Given the description of an element on the screen output the (x, y) to click on. 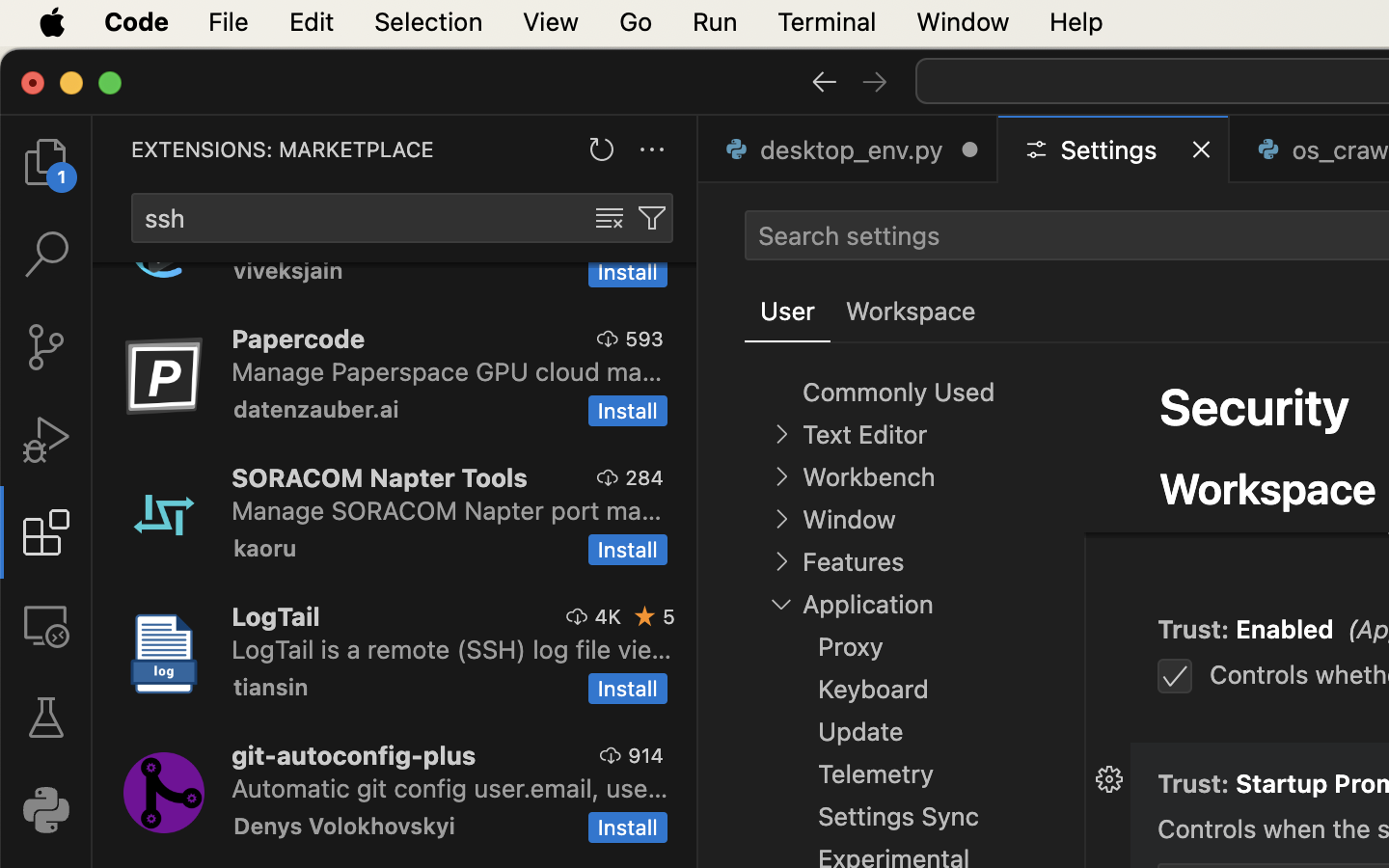
593 Element type: AXStaticText (644, 338)
Features Element type: AXStaticText (853, 561)
Text Editor Element type: AXStaticText (864, 434)
viveksjain Element type: AXStaticText (288, 272)
 Element type: AXStaticText (608, 476)
